Given the description of an element on the screen output the (x, y) to click on. 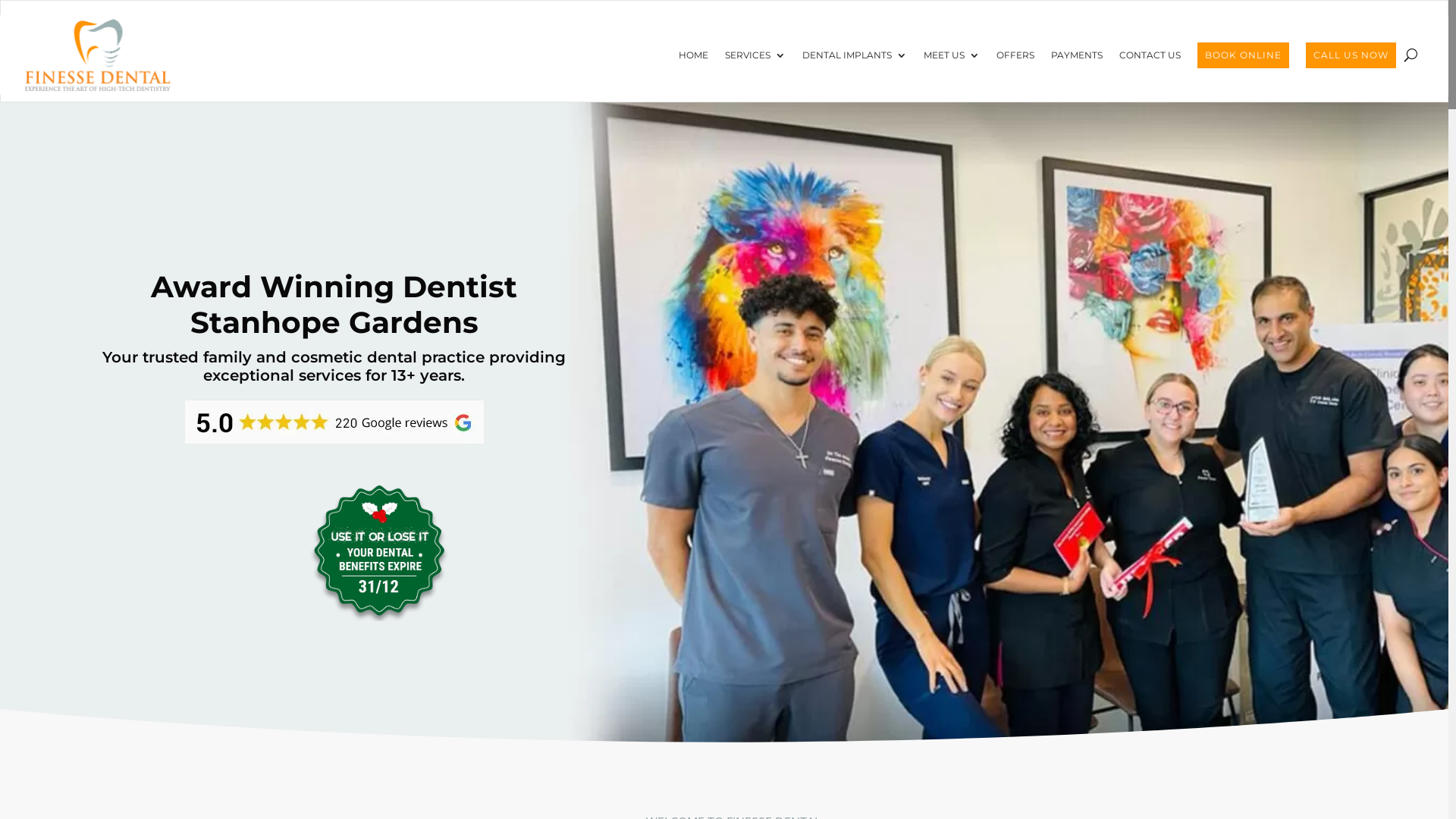
PAYMENTS Element type: text (1076, 54)
Green_Badge_1 Element type: hover (380, 550)
CALL US NOW Element type: text (1350, 54)
DENTAL IMPLANTS Element type: text (854, 54)
MEET US Element type: text (951, 54)
CONTACT US Element type: text (1149, 54)
BOOK ONLINE Element type: text (1243, 54)
SERVICES Element type: text (754, 54)
OFFERS Element type: text (1015, 54)
HOME Element type: text (693, 54)
